Given the description of an element on the screen output the (x, y) to click on. 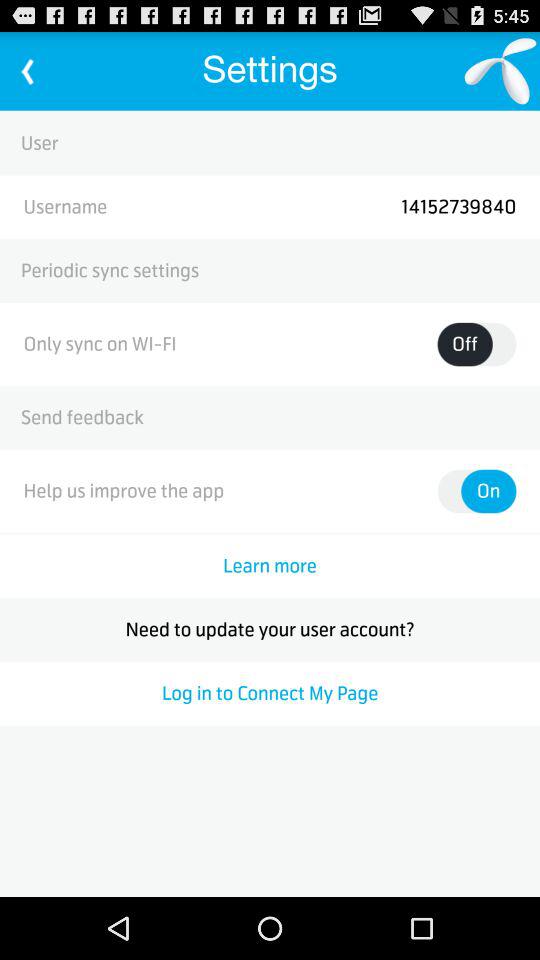
click the learn more icon (270, 566)
